Given the description of an element on the screen output the (x, y) to click on. 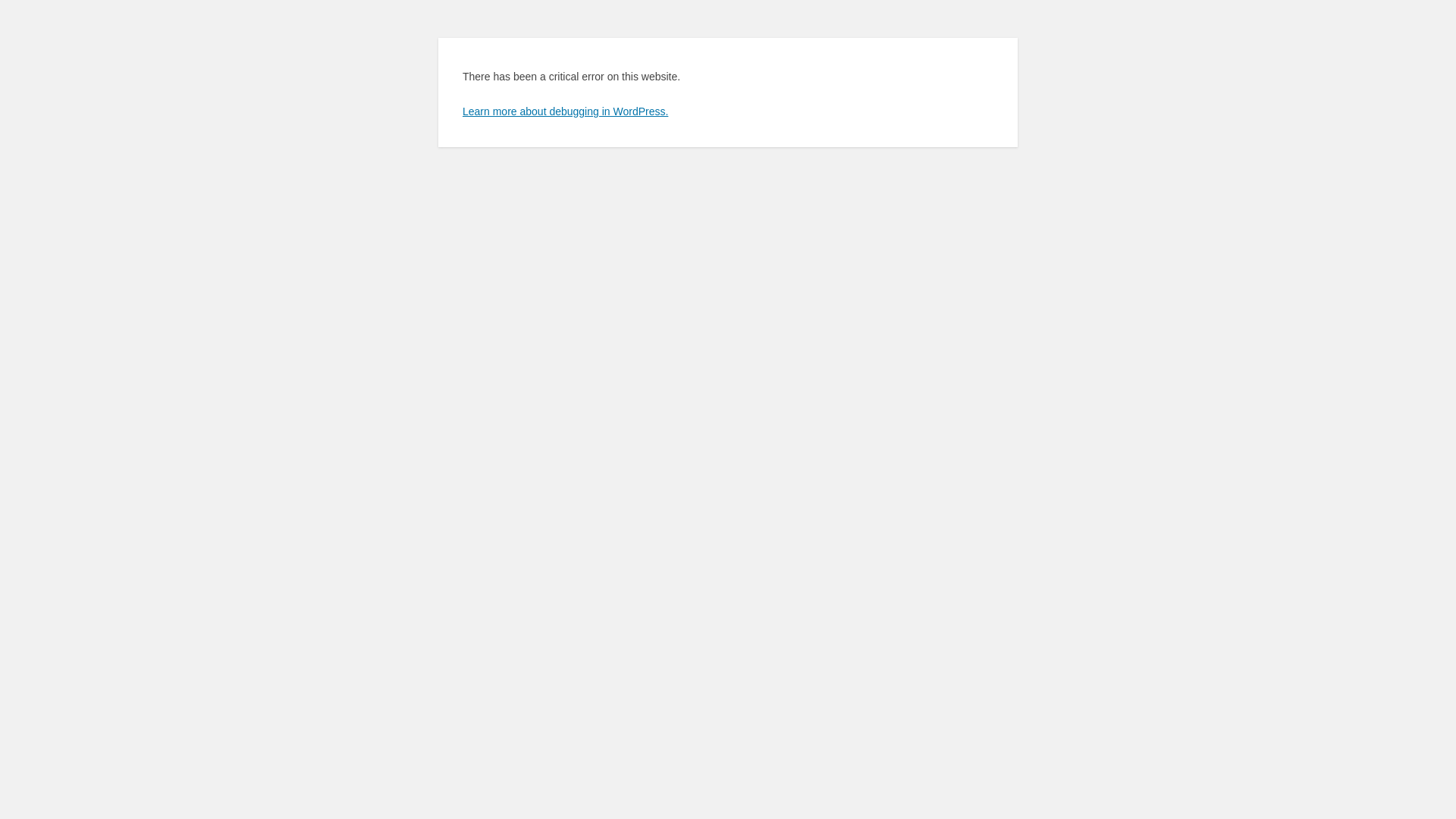
Learn more about debugging in WordPress. Element type: text (565, 111)
